Given the description of an element on the screen output the (x, y) to click on. 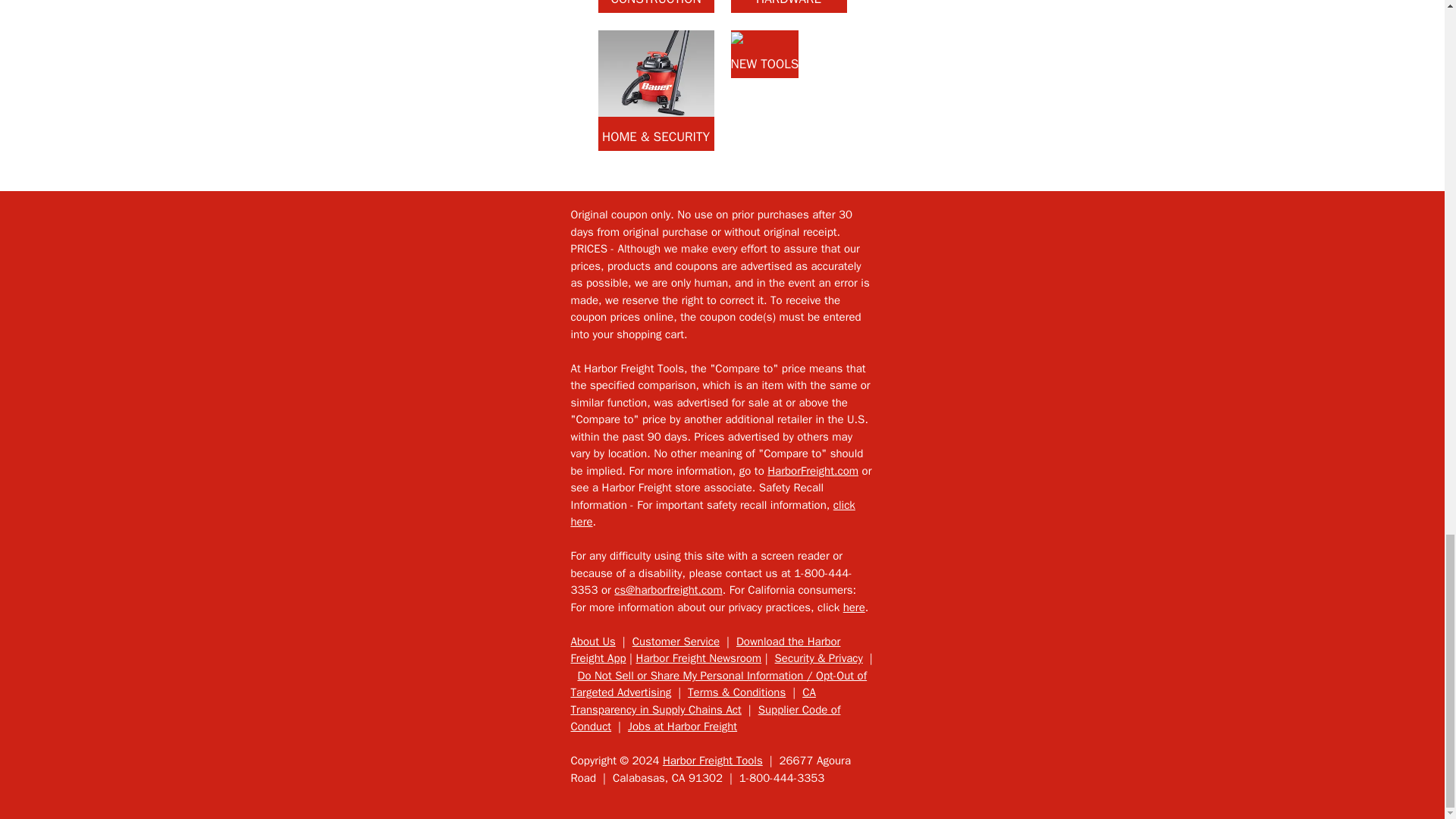
HARDWARE (788, 6)
About Us (592, 641)
Harbor Freight Tools Jobs (681, 726)
click here (712, 513)
NEW TOOLS (764, 53)
Supplier Code of Conduct (705, 717)
Download the Harbor Freight App (705, 649)
Harbor Freight Newsroom (697, 658)
CONSTRUCTION (654, 6)
here (853, 607)
Customer Service (675, 641)
HarborFreight.com (813, 470)
